Given the description of an element on the screen output the (x, y) to click on. 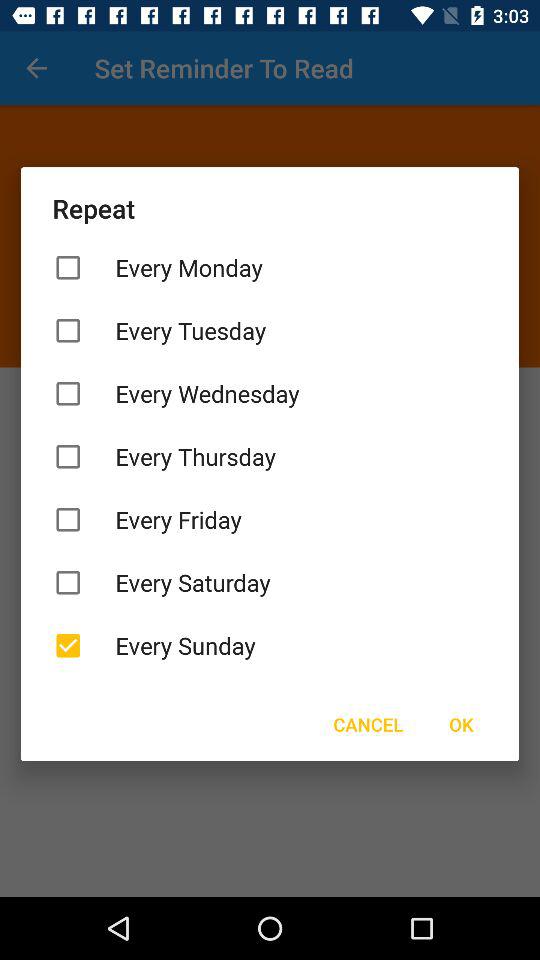
turn off item below the every saturday icon (270, 645)
